Given the description of an element on the screen output the (x, y) to click on. 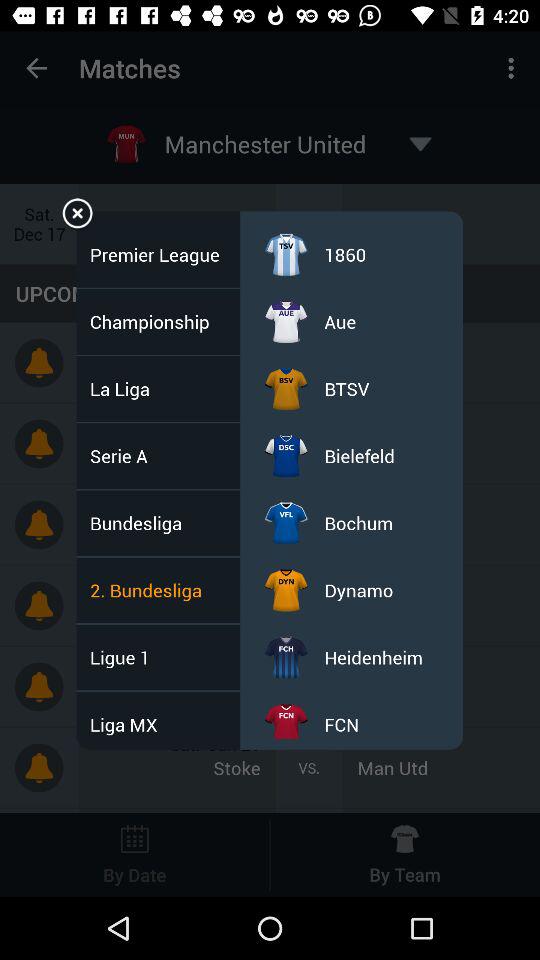
swipe until 1860 item (345, 254)
